Given the description of an element on the screen output the (x, y) to click on. 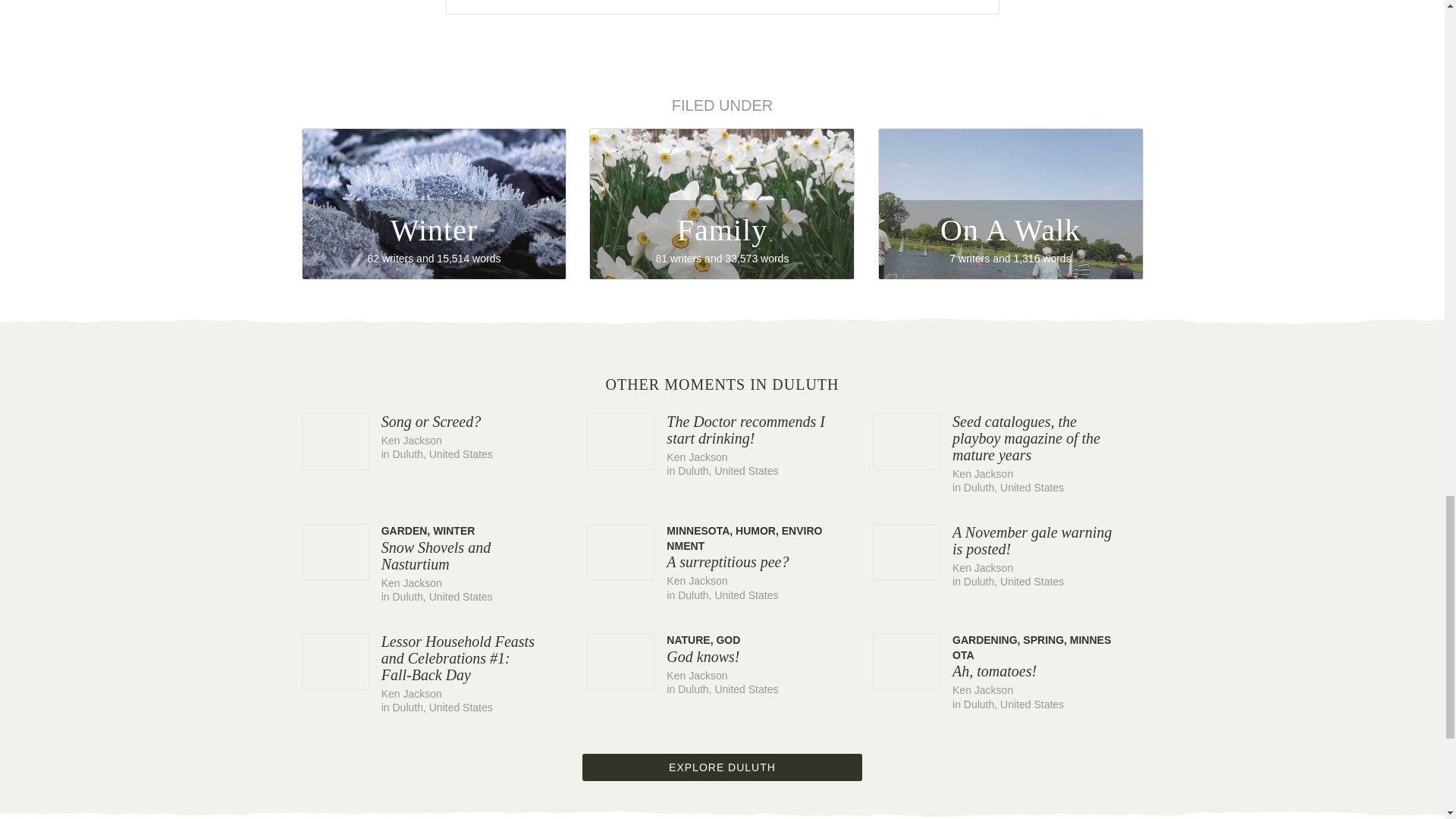
OTHER MOMENTS IN DULUTH (436, 438)
